Given the description of an element on the screen output the (x, y) to click on. 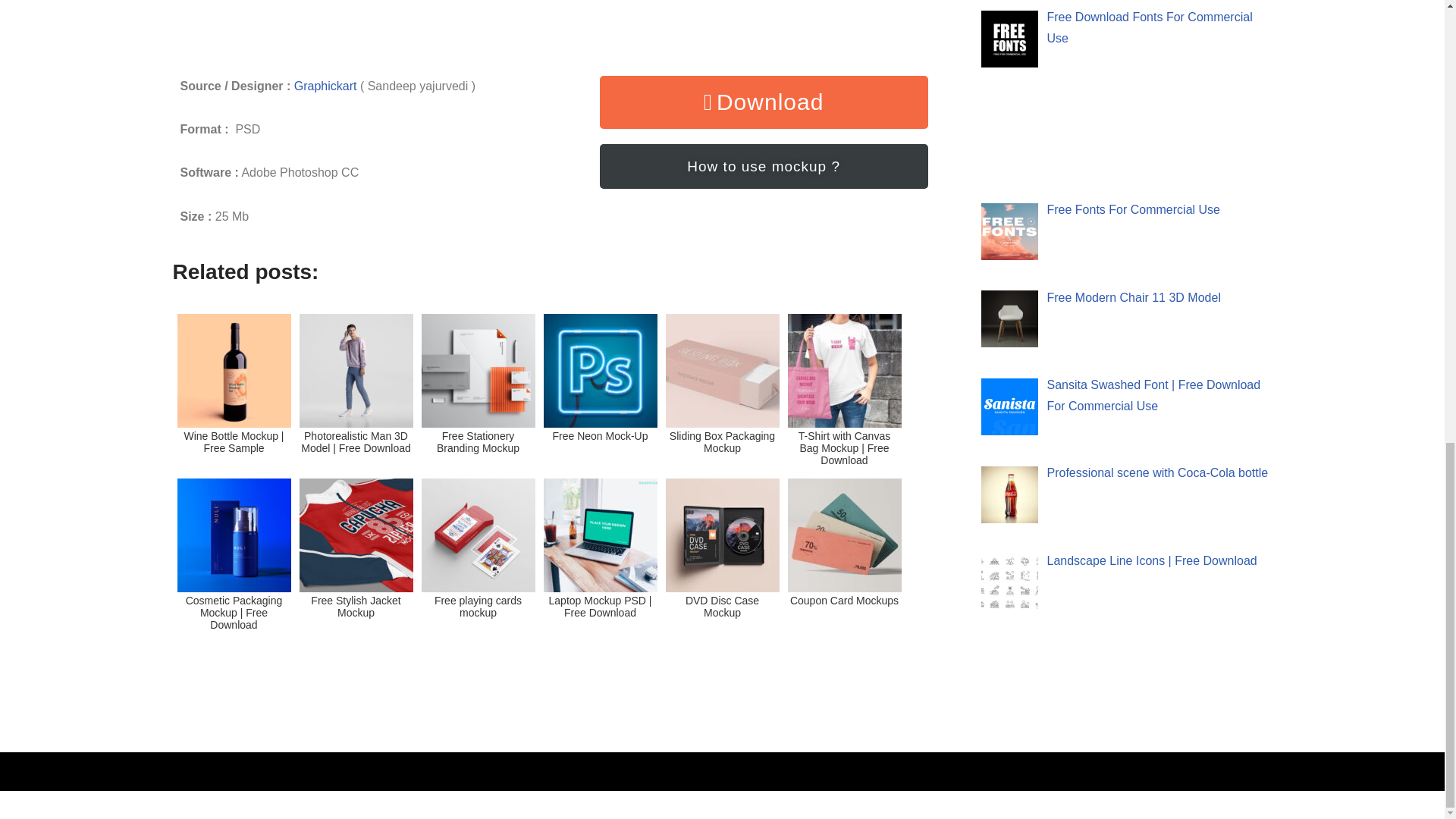
Free Fonts For Commercial Use (1133, 209)
How to use mockup ? (763, 166)
Graphickart (325, 85)
Free Modern Chair 11 3D Model (1133, 297)
Download (763, 102)
Free Download Fonts For Commercial Use (1149, 27)
